Given the description of an element on the screen output the (x, y) to click on. 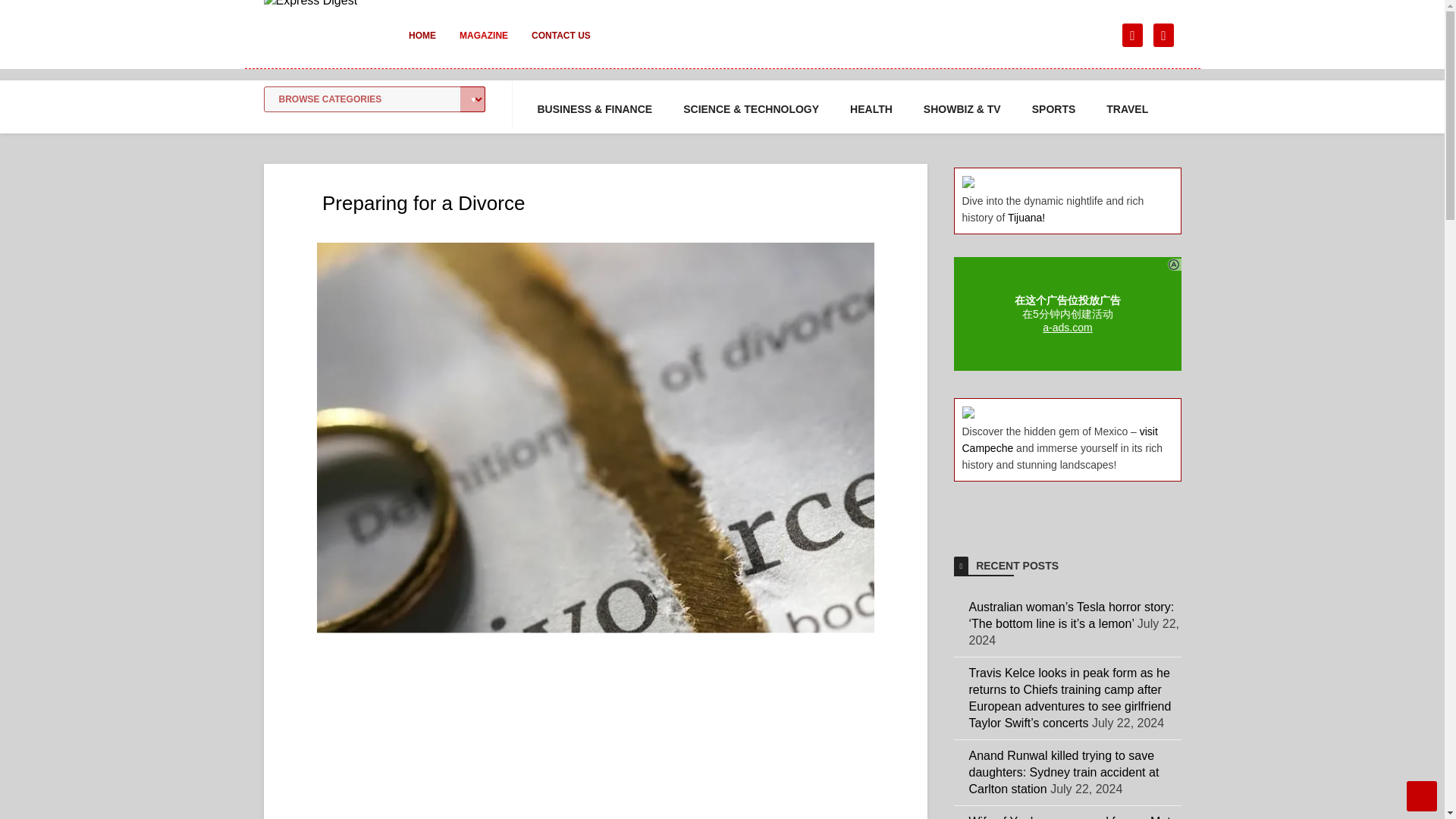
Tijuana! (1026, 217)
MAGAZINE (482, 45)
SPORTS (1053, 109)
CONTACT US (560, 45)
visit Campeche (1058, 439)
HEALTH (871, 109)
TRAVEL (1127, 109)
